Given the description of an element on the screen output the (x, y) to click on. 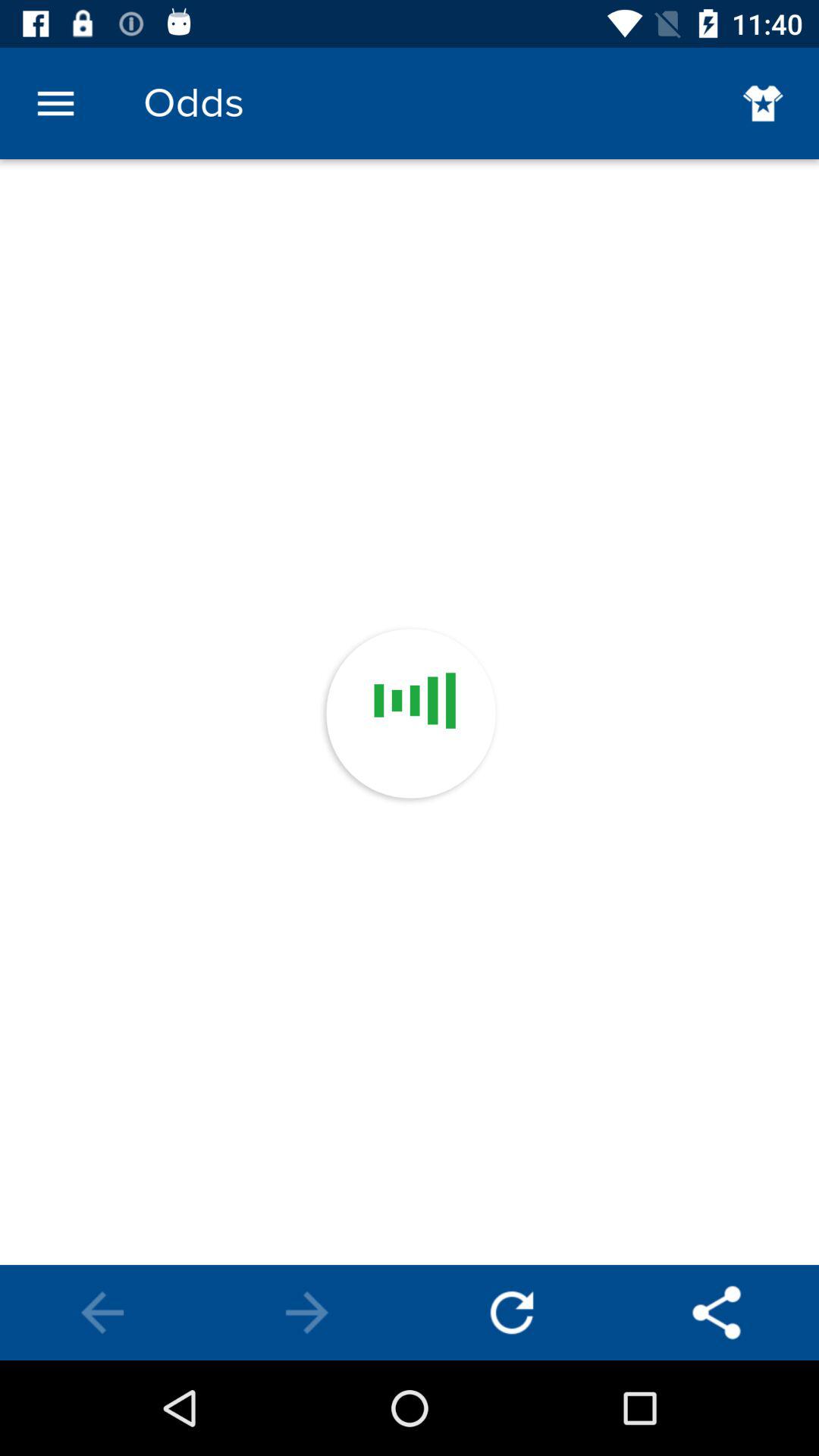
refresh the page (511, 1312)
